Given the description of an element on the screen output the (x, y) to click on. 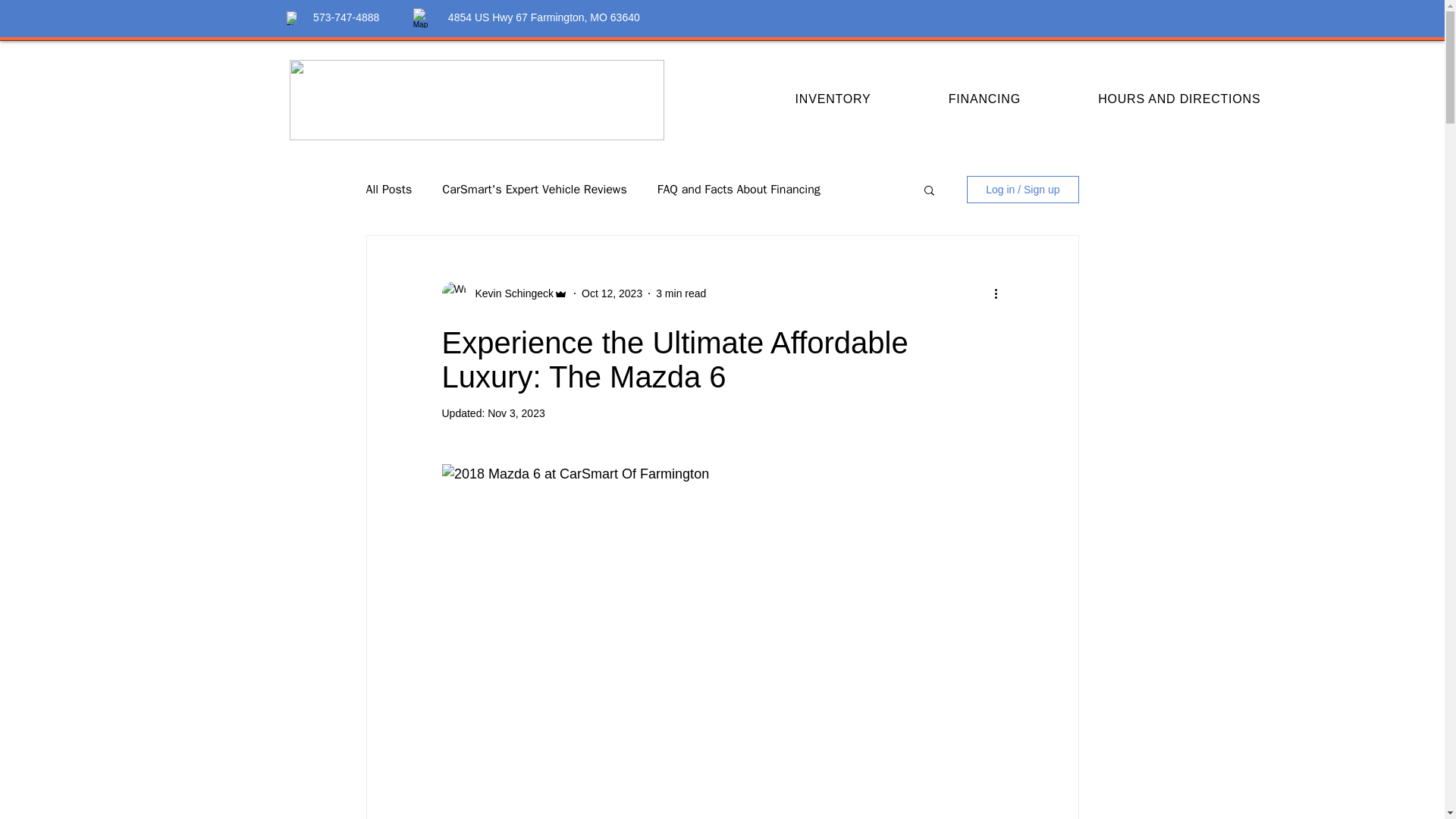
Kevin Schingeck (509, 293)
All Posts (388, 189)
HOURS AND DIRECTIONS (1178, 99)
CarSmart's Expert Vehicle Reviews (534, 189)
Oct 12, 2023 (611, 292)
FAQ and Facts About Financing (739, 189)
3 min read (681, 292)
Nov 3, 2023 (515, 413)
logo.png (476, 99)
FINANCING (984, 99)
INVENTORY (833, 99)
